Given the description of an element on the screen output the (x, y) to click on. 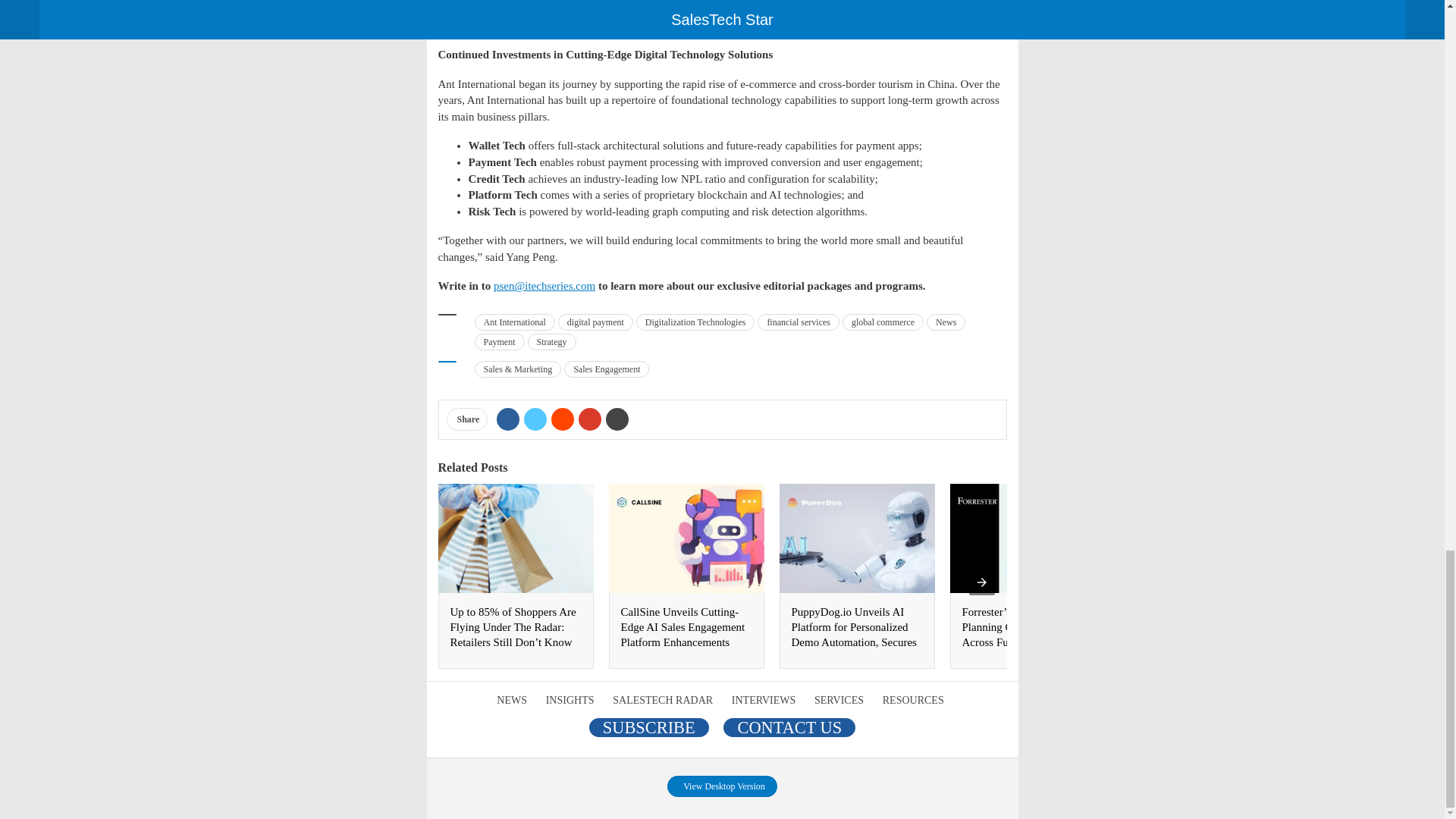
Next item in carousel (981, 582)
Payment (499, 341)
Digitalization Technologies (695, 321)
financial services (798, 321)
Strategy (551, 341)
digital payment (595, 321)
News (945, 321)
